Given the description of an element on the screen output the (x, y) to click on. 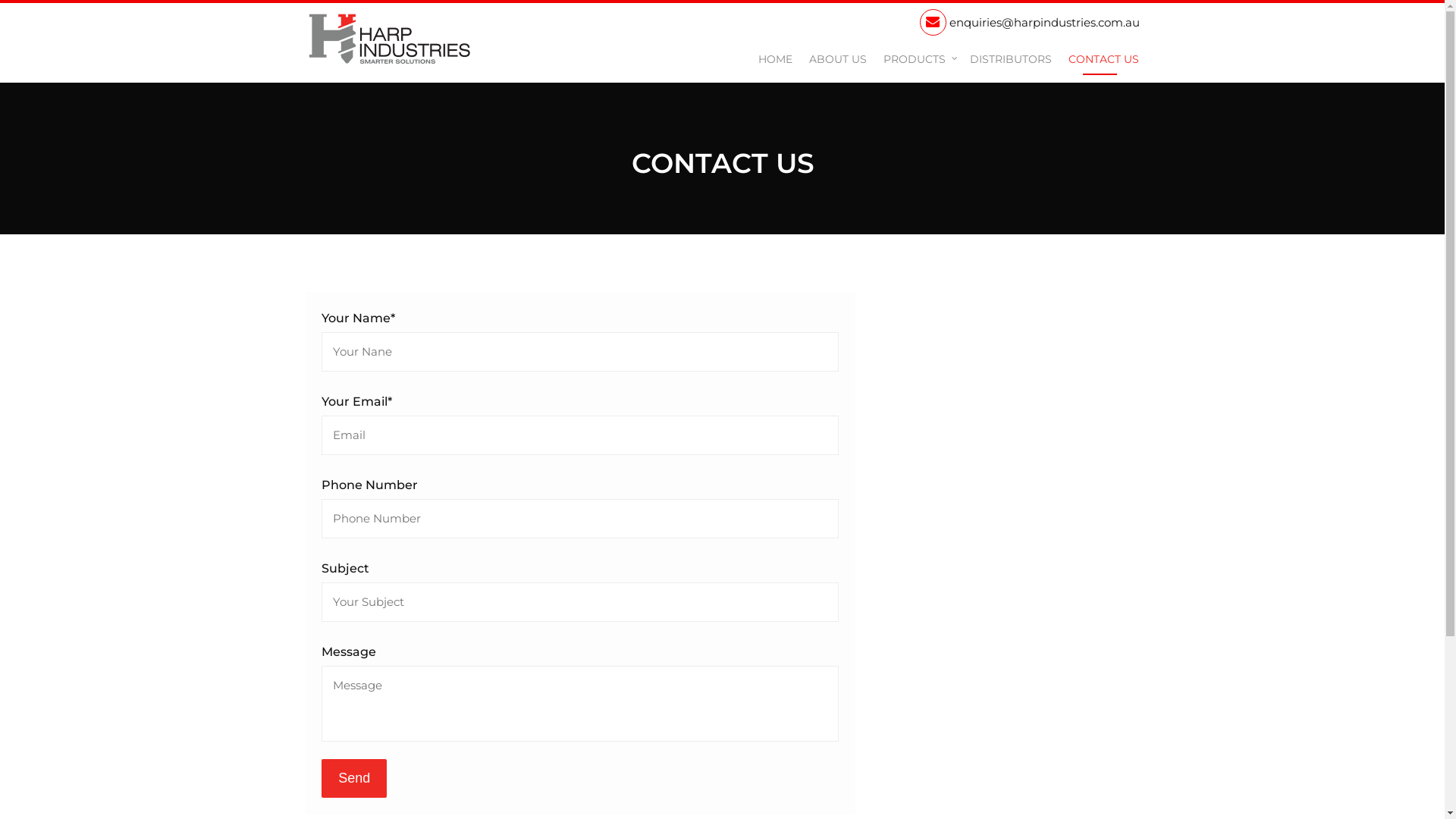
PRODUCTS Element type: text (917, 59)
enquiries@harpindustries.com.au Element type: text (1029, 22)
CONTACT US Element type: text (1099, 59)
Send Element type: text (353, 778)
DISTRIBUTORS Element type: text (1009, 59)
HOME Element type: text (775, 59)
ABOUT US Element type: text (836, 59)
